Given the description of an element on the screen output the (x, y) to click on. 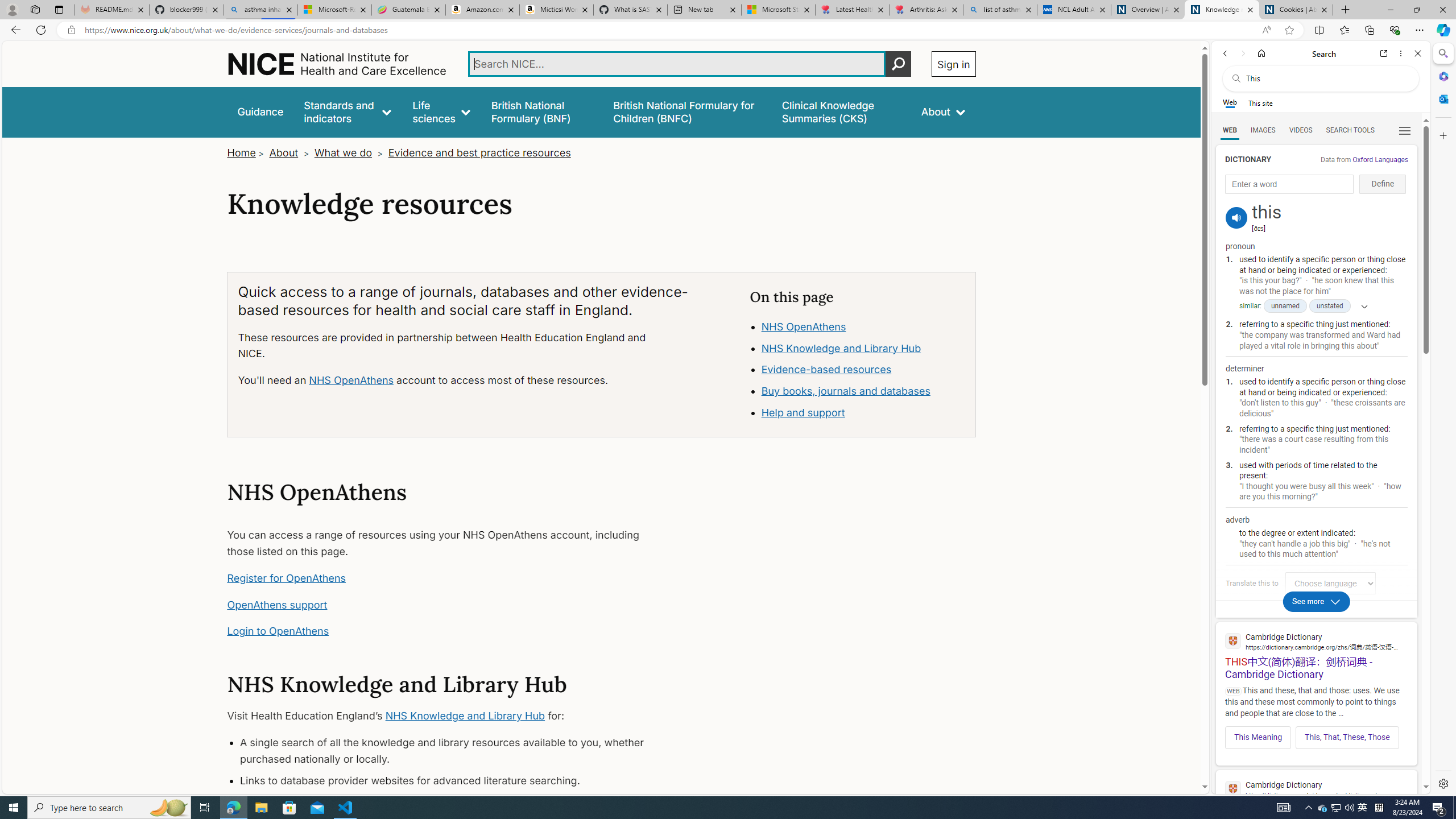
NHS Knowledge and Library Hub (465, 716)
asthma inhaler - Search (260, 9)
British National Formulary for Children (BNFC) (686, 111)
Define (1382, 184)
What we do> (349, 152)
Link for logging (1333, 582)
Guidance (260, 111)
OpenAthens support (277, 604)
About> (290, 152)
This, That, These, Those (1347, 737)
